Given the description of an element on the screen output the (x, y) to click on. 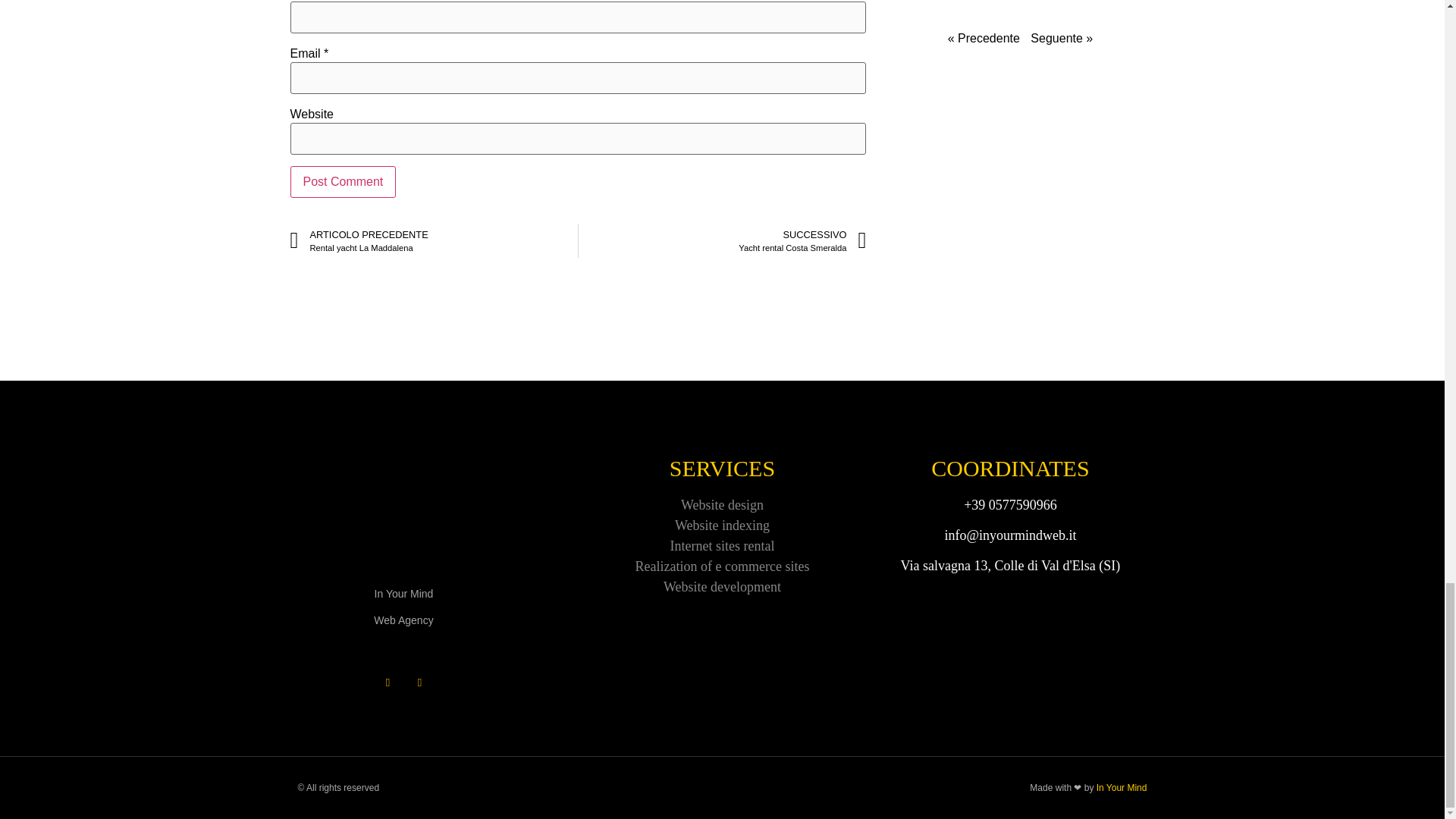
In-Your-Mind (403, 513)
Post Comment (342, 182)
Post Comment (342, 182)
